Given the description of an element on the screen output the (x, y) to click on. 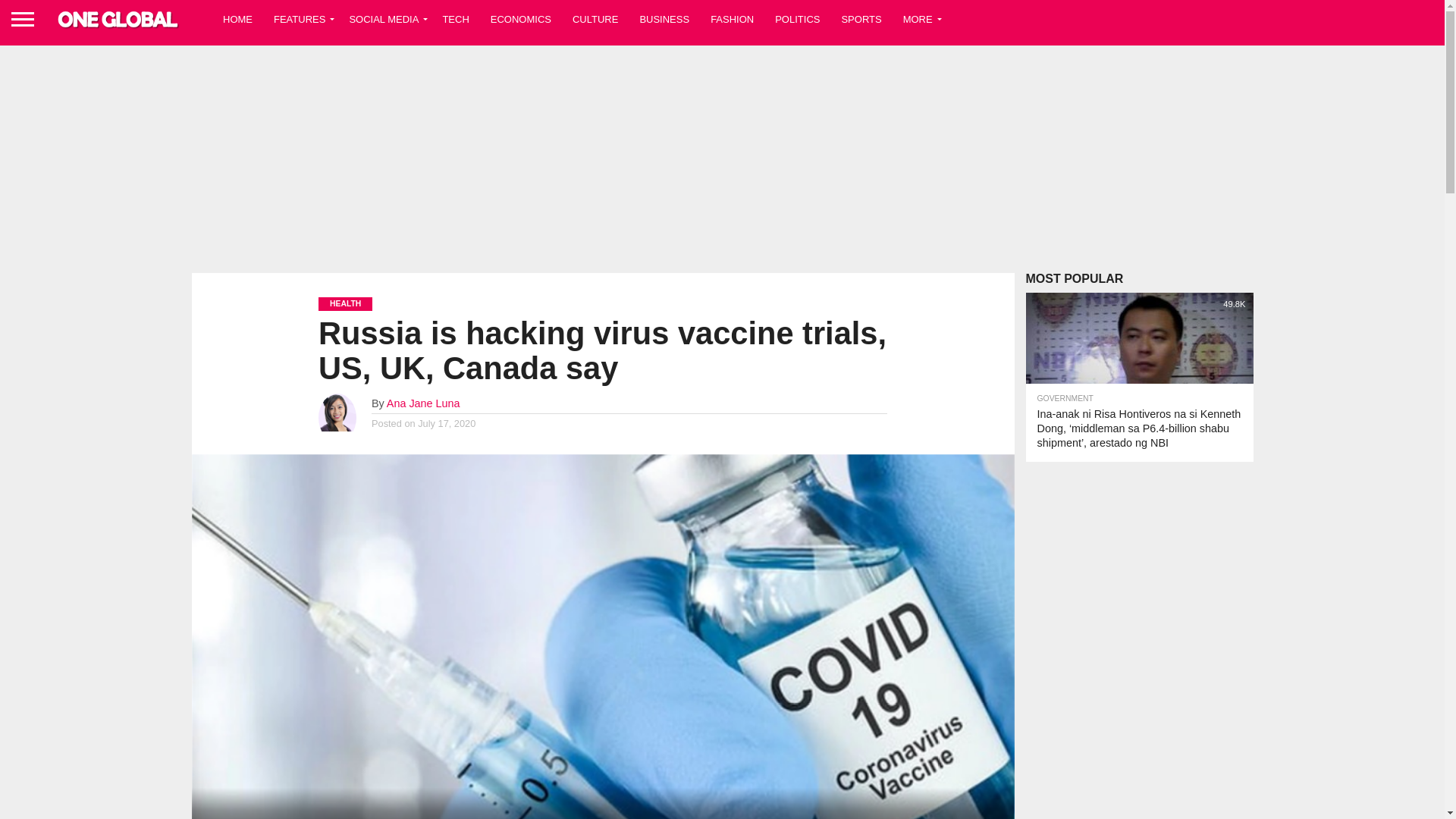
FASHION (732, 18)
CULTURE (595, 18)
ECONOMICS (521, 18)
POLITICS (796, 18)
Posts by Ana Jane Luna (423, 403)
TECH (454, 18)
MORE (918, 18)
SPORTS (860, 18)
HOME (237, 18)
FEATURES (300, 18)
SOCIAL MEDIA (383, 18)
BUSINESS (664, 18)
